Given the description of an element on the screen output the (x, y) to click on. 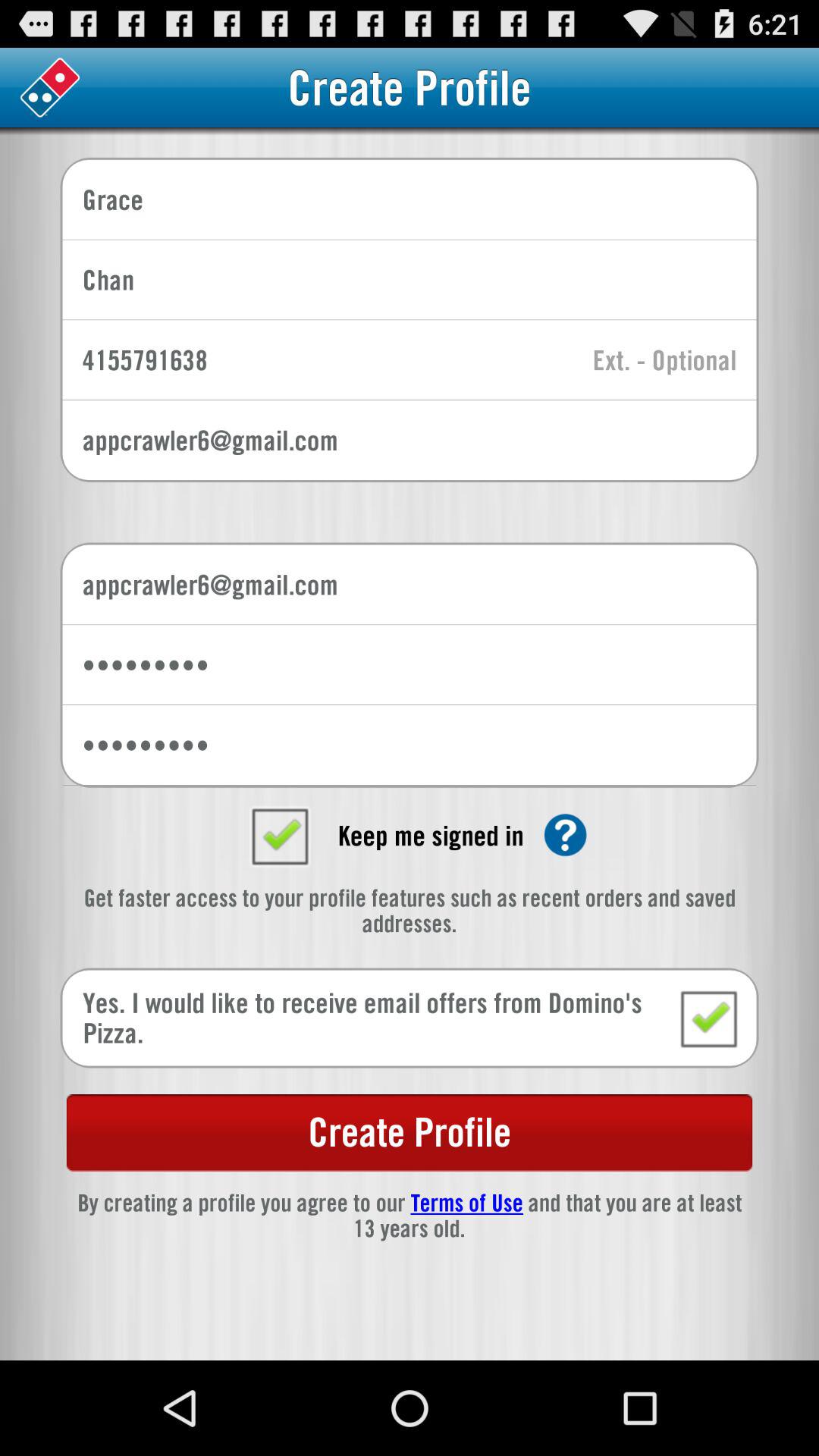
click here for help (565, 835)
